Given the description of an element on the screen output the (x, y) to click on. 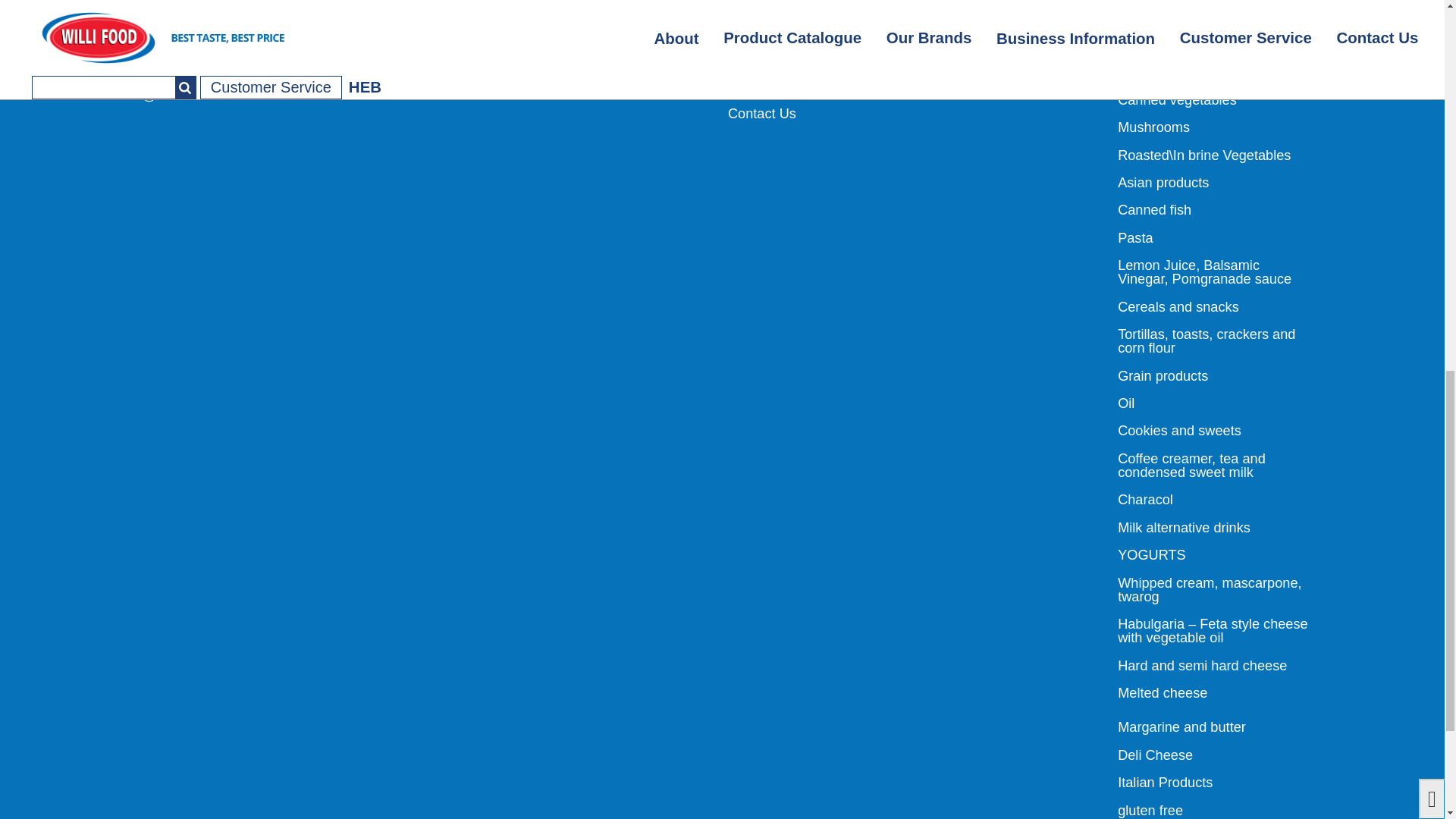
Contact Us (762, 113)
Customer Service (782, 86)
G. Willi Food Investments financial statements (806, 51)
Canned vegetables (1177, 99)
Mushrooms (1153, 127)
08-9321000 (188, 38)
Site Terms of Use (781, 17)
Canned fruit (1155, 44)
Rice (1131, 17)
Prepared Meals (1166, 72)
Asian products (1163, 182)
